Given the description of an element on the screen output the (x, y) to click on. 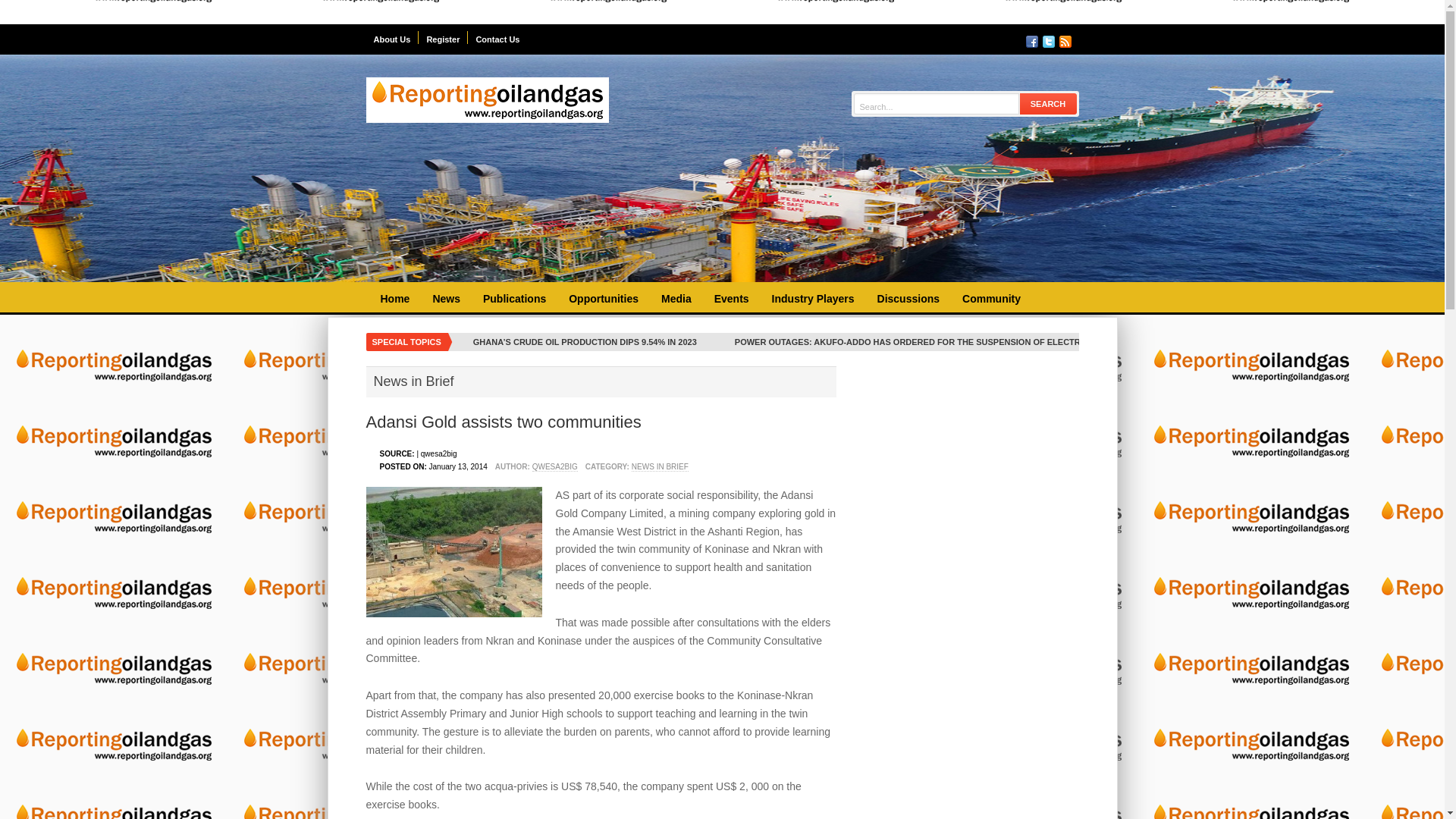
Publications (514, 298)
Events (731, 298)
Facebook (1030, 41)
Register (442, 37)
RSS (1064, 41)
Media (676, 298)
Search (1047, 103)
Discussions (908, 298)
Search... (935, 106)
Opportunities (603, 298)
About Us (391, 37)
Industry Players (813, 298)
NEWS IN BRIEF (659, 466)
Search (1047, 103)
Twitter (1048, 41)
